Given the description of an element on the screen output the (x, y) to click on. 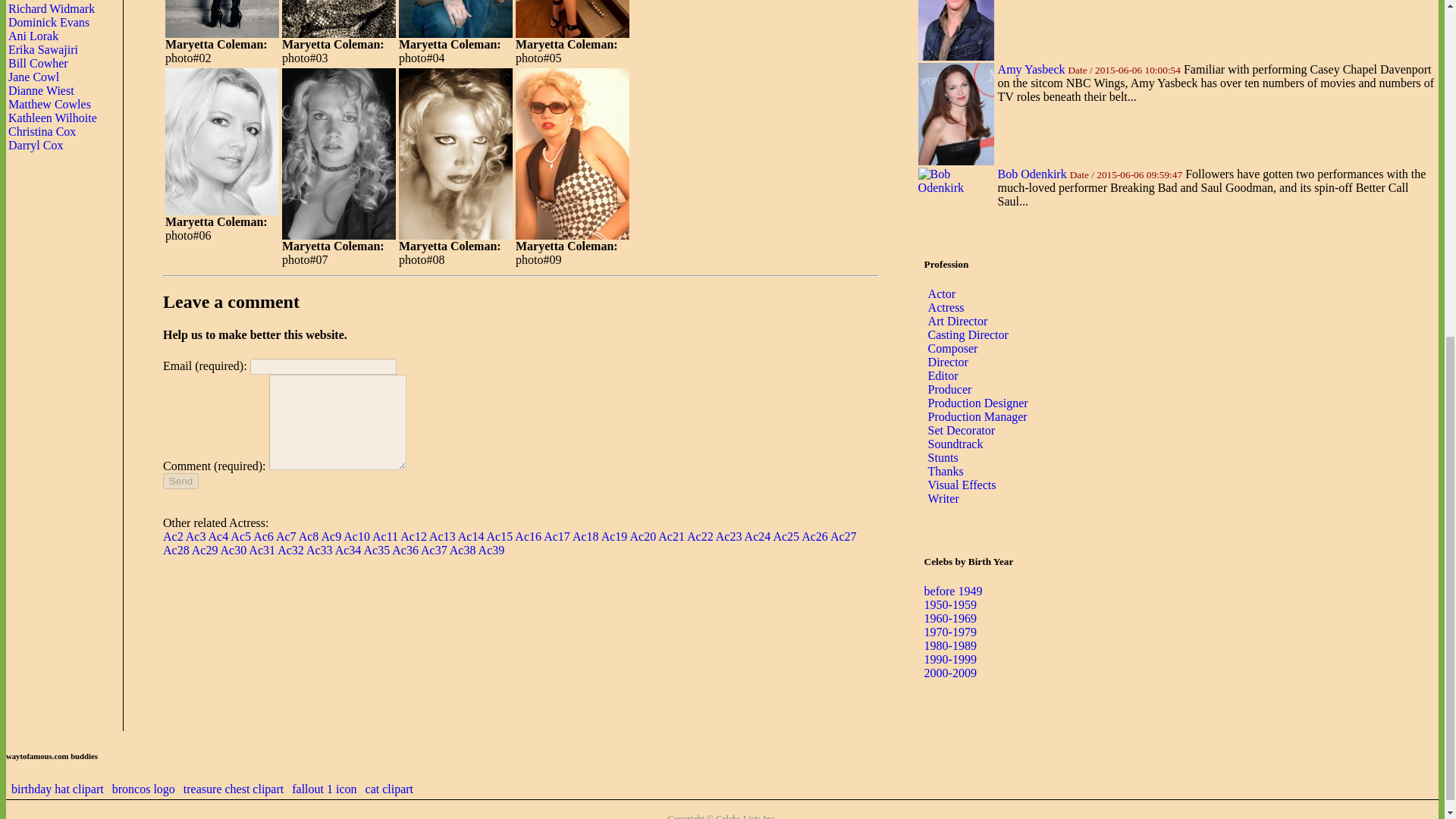
Ella Koon (33, 0)
Maryetta Coleman (339, 19)
Maryetta Coleman (222, 19)
Richard Widmark (51, 8)
Maryetta Coleman (571, 19)
Send (180, 480)
Ani Lorak (33, 35)
Maryetta Coleman (455, 19)
Dominick Evans (48, 21)
